Given the description of an element on the screen output the (x, y) to click on. 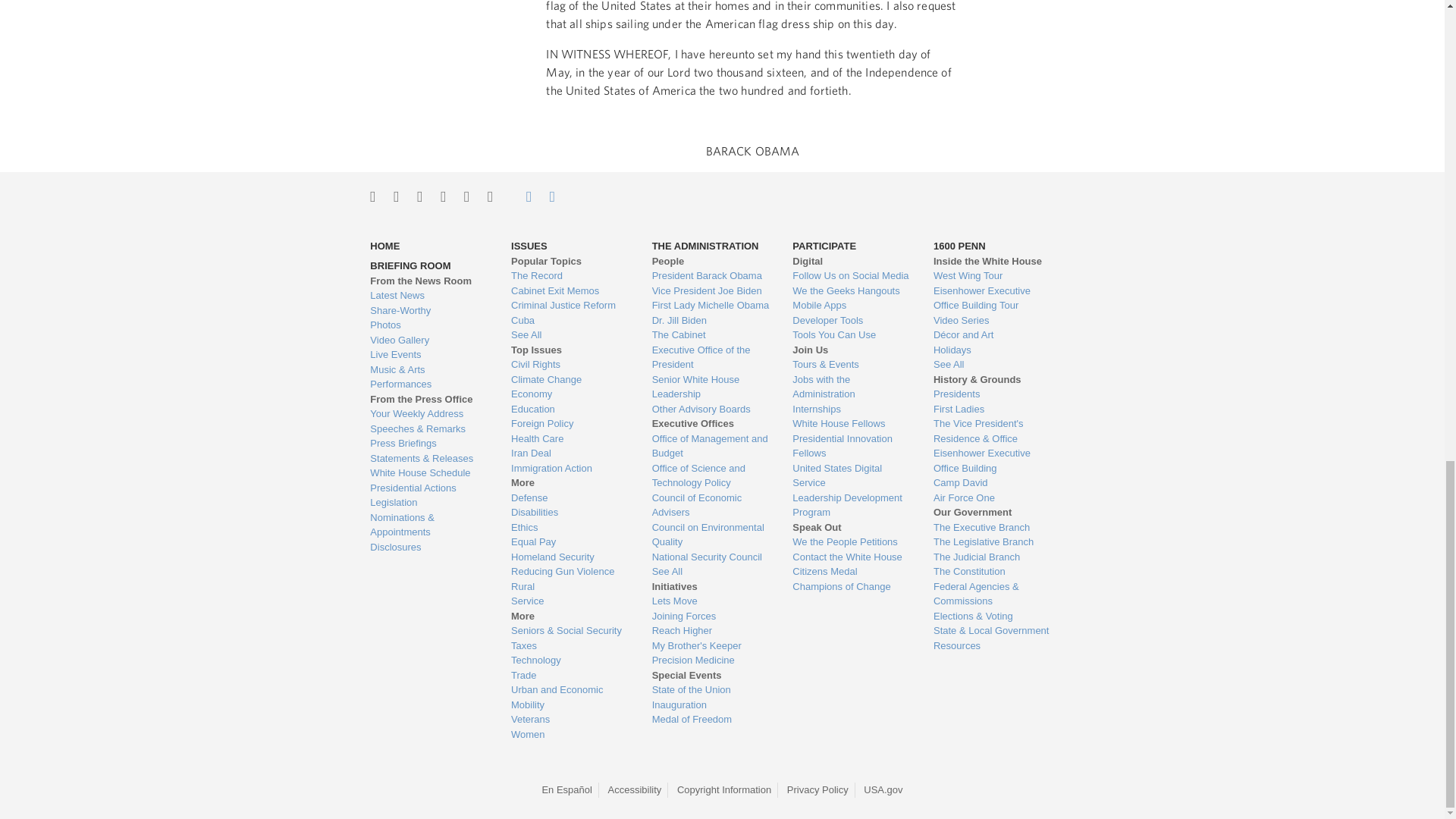
Watch behind-the-scenes videos and more (428, 340)
View the photo of the day and other galleries (428, 324)
Read the latest blog posts from 1600 Pennsylvania Ave (428, 295)
Check out the most popular infographics and videos (428, 310)
Contact the Whitehouse. (521, 196)
